Given the description of an element on the screen output the (x, y) to click on. 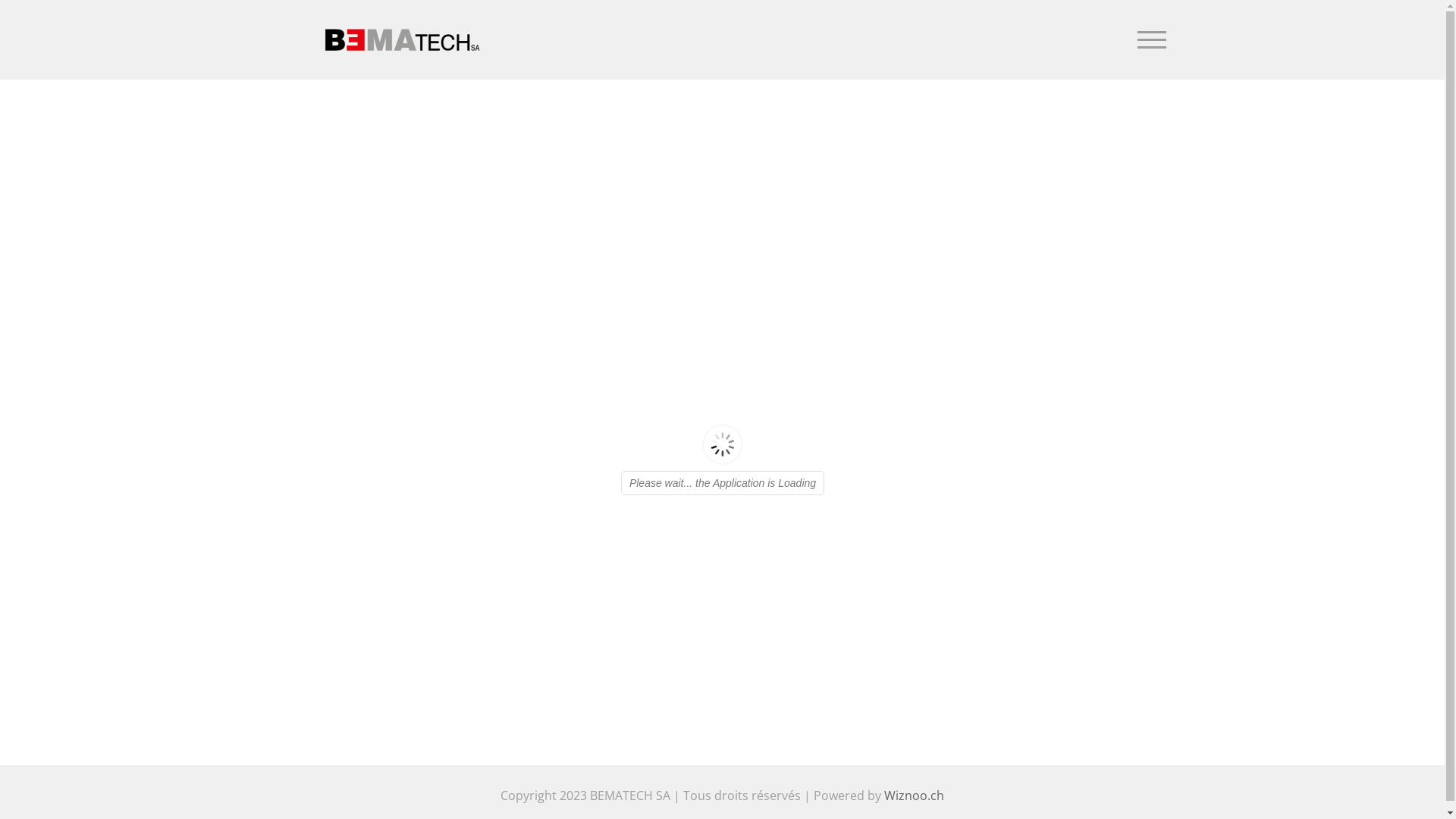
Wiznoo.ch Element type: text (914, 795)
Accueil Element type: text (1015, 116)
